Given the description of an element on the screen output the (x, y) to click on. 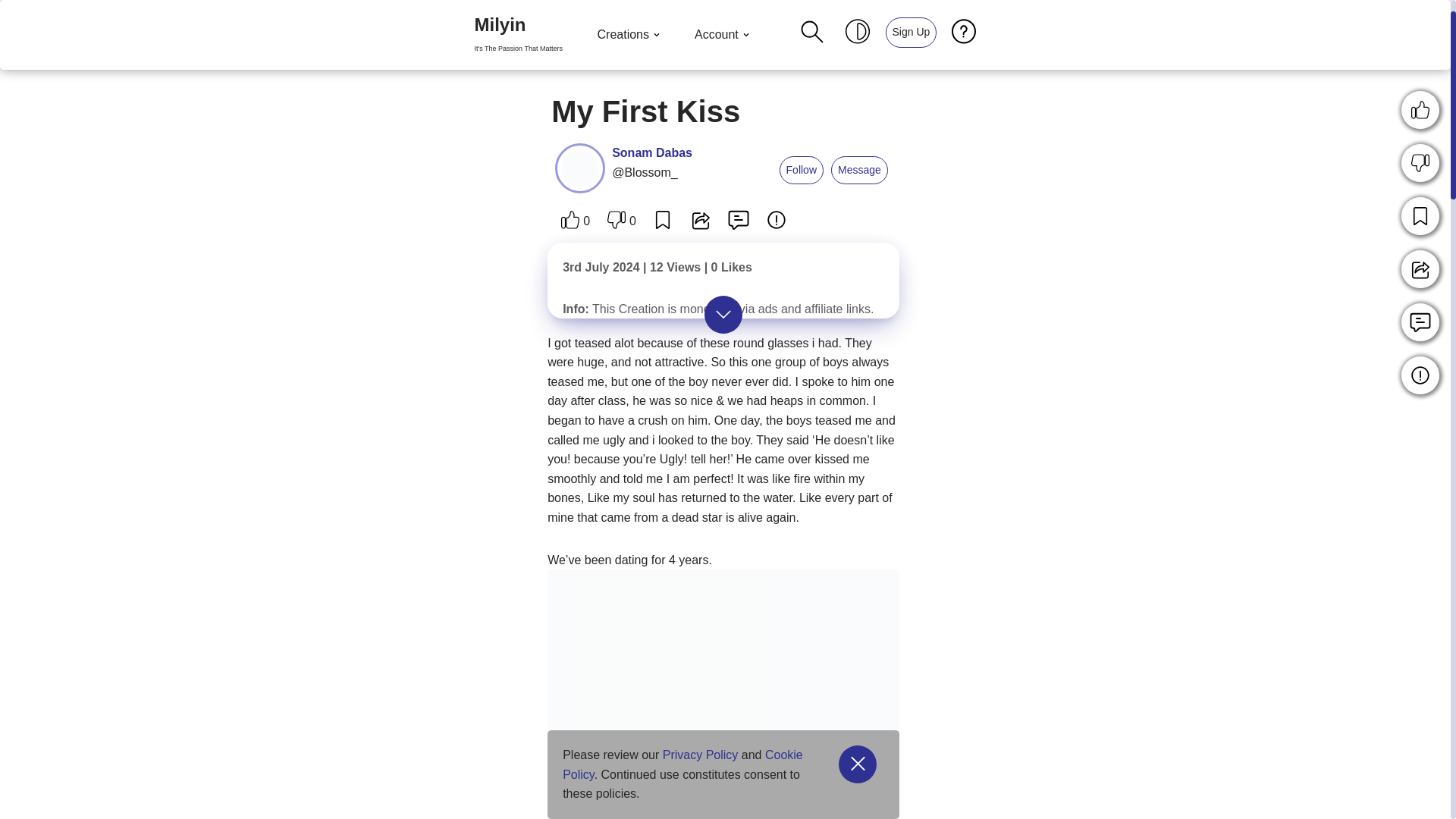
Account (724, 35)
Message (859, 170)
Sign Up (911, 32)
Skip to content (11, 31)
Creations (518, 34)
Sonam Dabas (629, 35)
Follow (652, 152)
Milyin (801, 170)
Sign Up (518, 34)
